Given the description of an element on the screen output the (x, y) to click on. 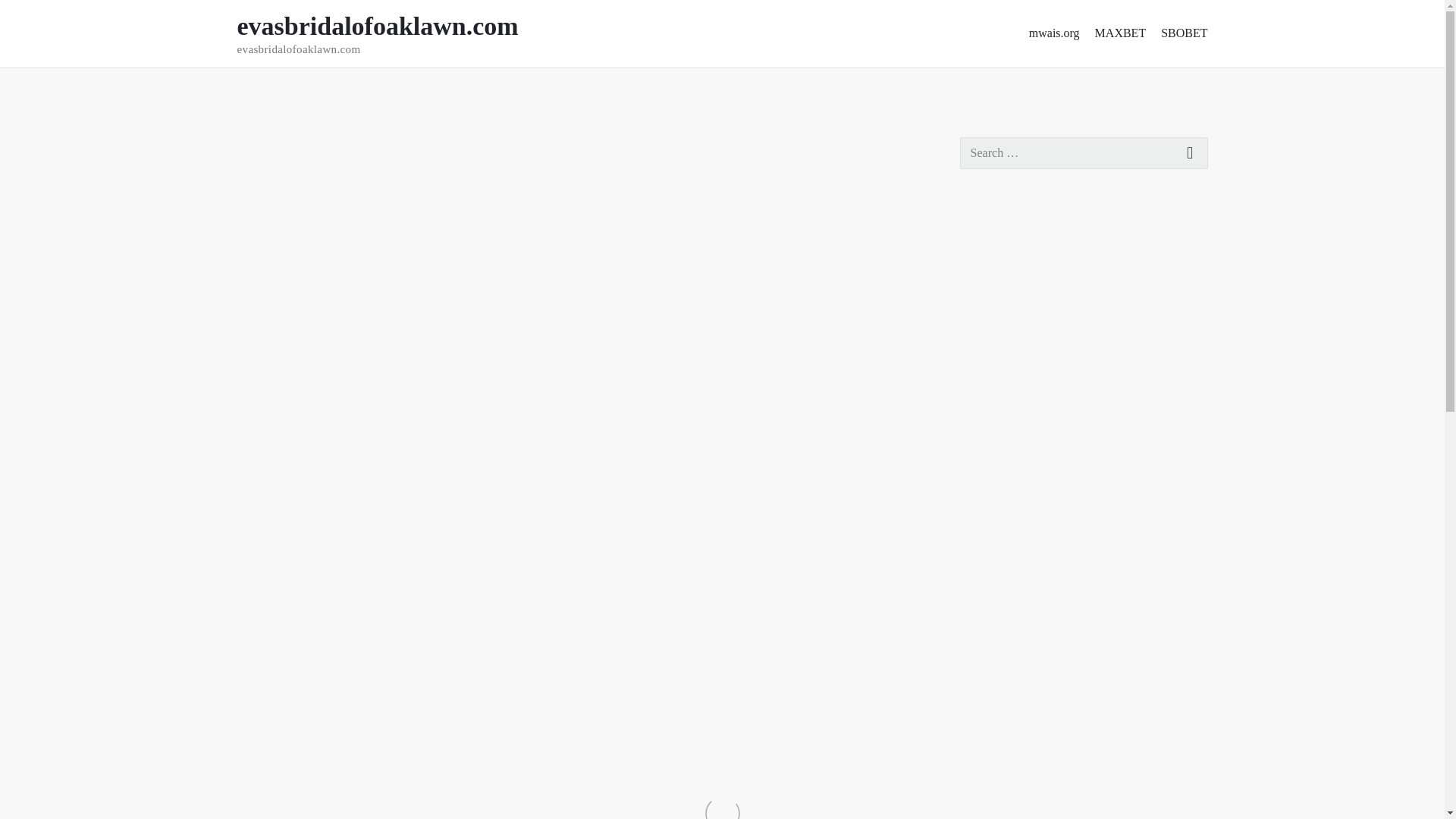
Posts by evasbridalofoaklawn (367, 145)
January 2024 (993, 576)
SEARCH (397, 33)
Search for: (1190, 152)
mwais.org (1083, 152)
How Online Slots Work (1054, 32)
February 2024 (1021, 364)
Sunday, May 29, 2022, 12:39 pm (997, 544)
evasbridalofoaklawn (265, 145)
September 2023 (367, 145)
How to Choose a Casino Online (1001, 707)
Home (1042, 332)
July 2023 (250, 89)
Managing Your Bankroll When Playing Poker Online (984, 771)
